Given the description of an element on the screen output the (x, y) to click on. 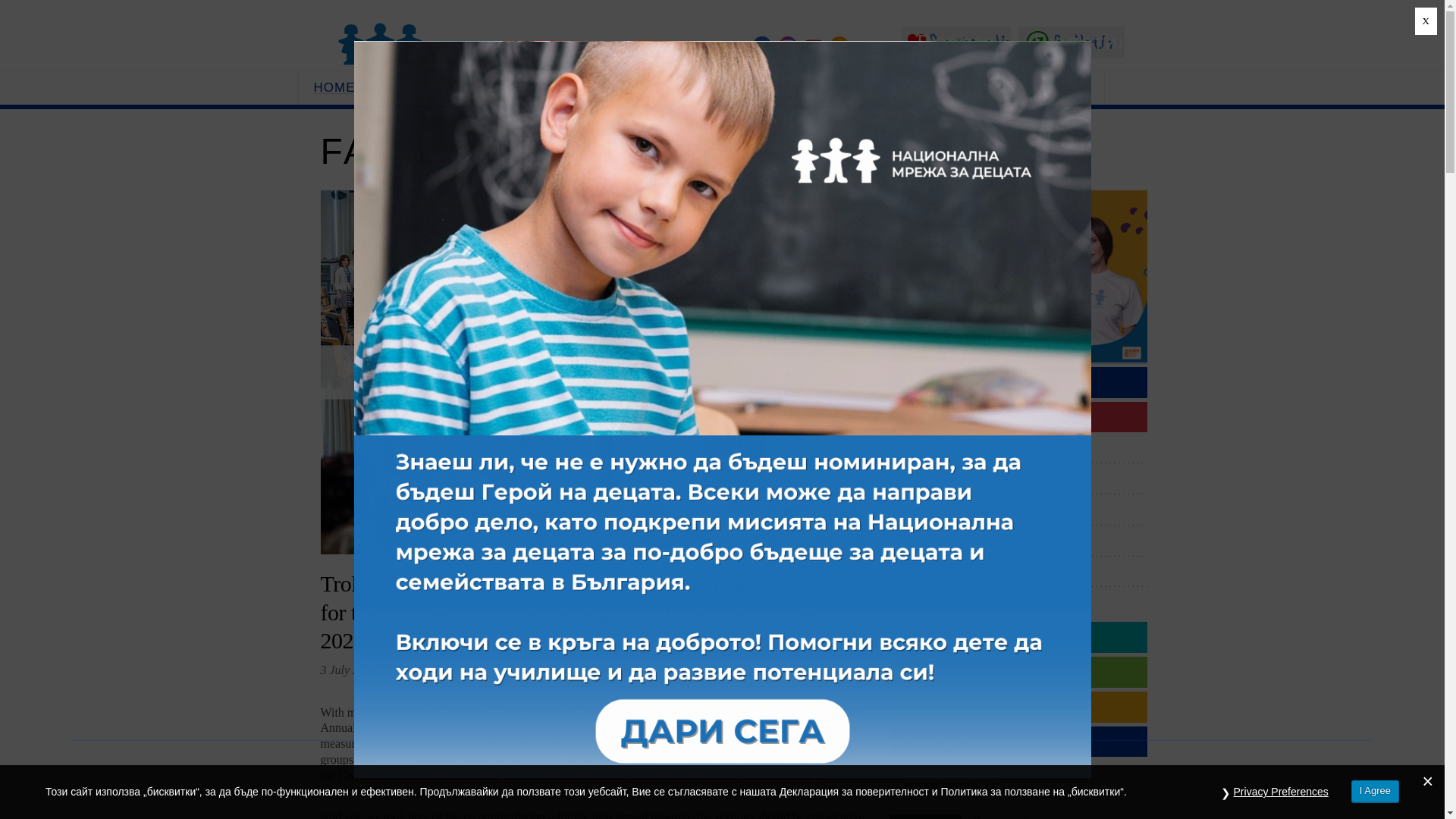
ALL POLICIES (1017, 382)
Donate (955, 42)
FAMILY (1017, 417)
Justice (1017, 706)
YOUTUBE (813, 45)
Donate (1017, 358)
Education (1017, 636)
RSS (838, 45)
Donate (955, 42)
POLICIES (419, 87)
Search (1072, 87)
INSTAGRAM (787, 45)
ABOUT US (745, 87)
PARTNERSHIPS (968, 87)
MEMBERS (847, 87)
